Given the description of an element on the screen output the (x, y) to click on. 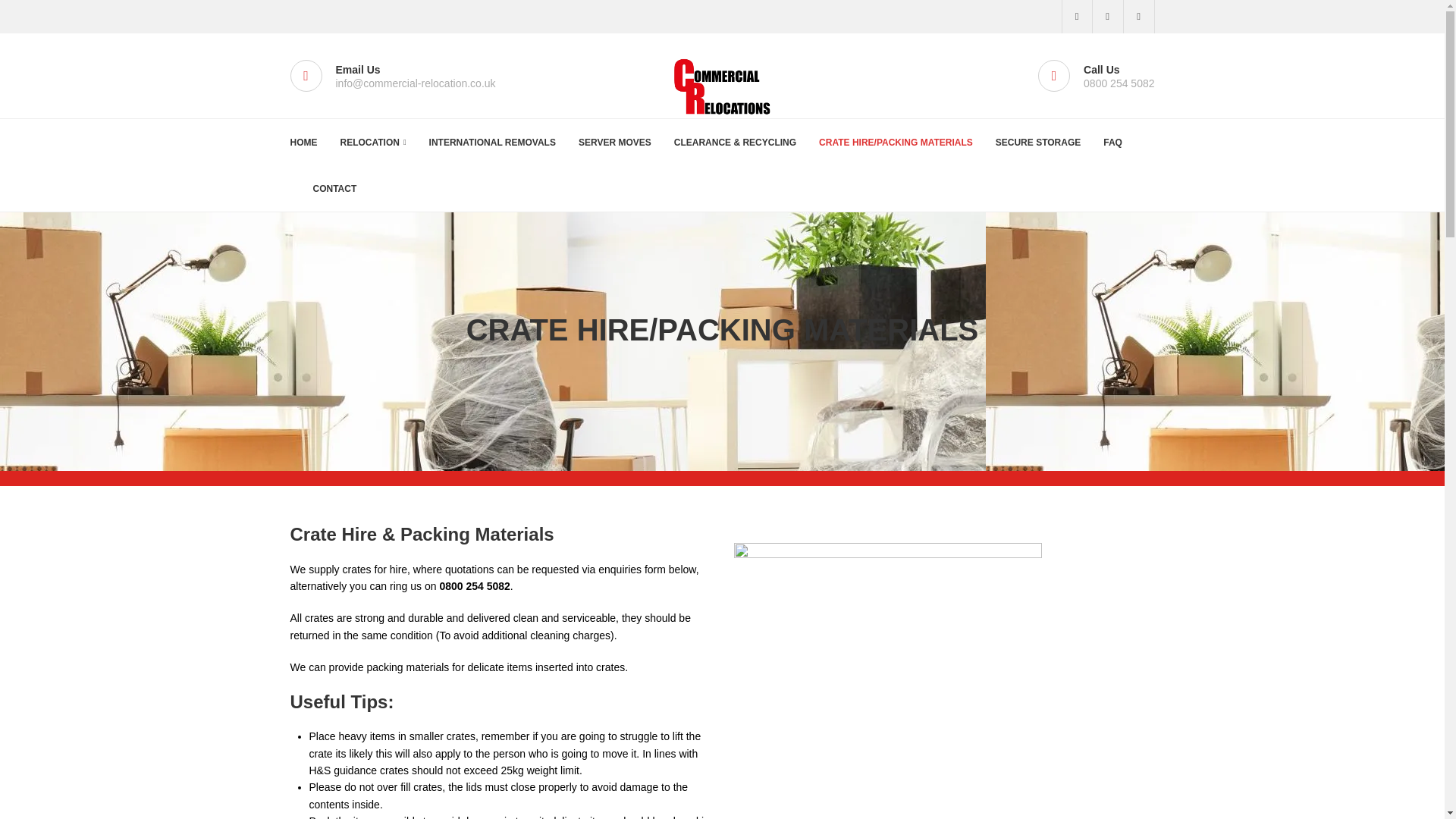
LinkedIn (1107, 16)
FAQ (1112, 142)
Facebook (1139, 16)
SECURE STORAGE (1037, 142)
CONTACT (334, 188)
Twitter (1077, 16)
INTERNATIONAL REMOVALS (492, 142)
SERVER MOVES (614, 142)
HOME (303, 142)
RELOCATION (372, 142)
